Given the description of an element on the screen output the (x, y) to click on. 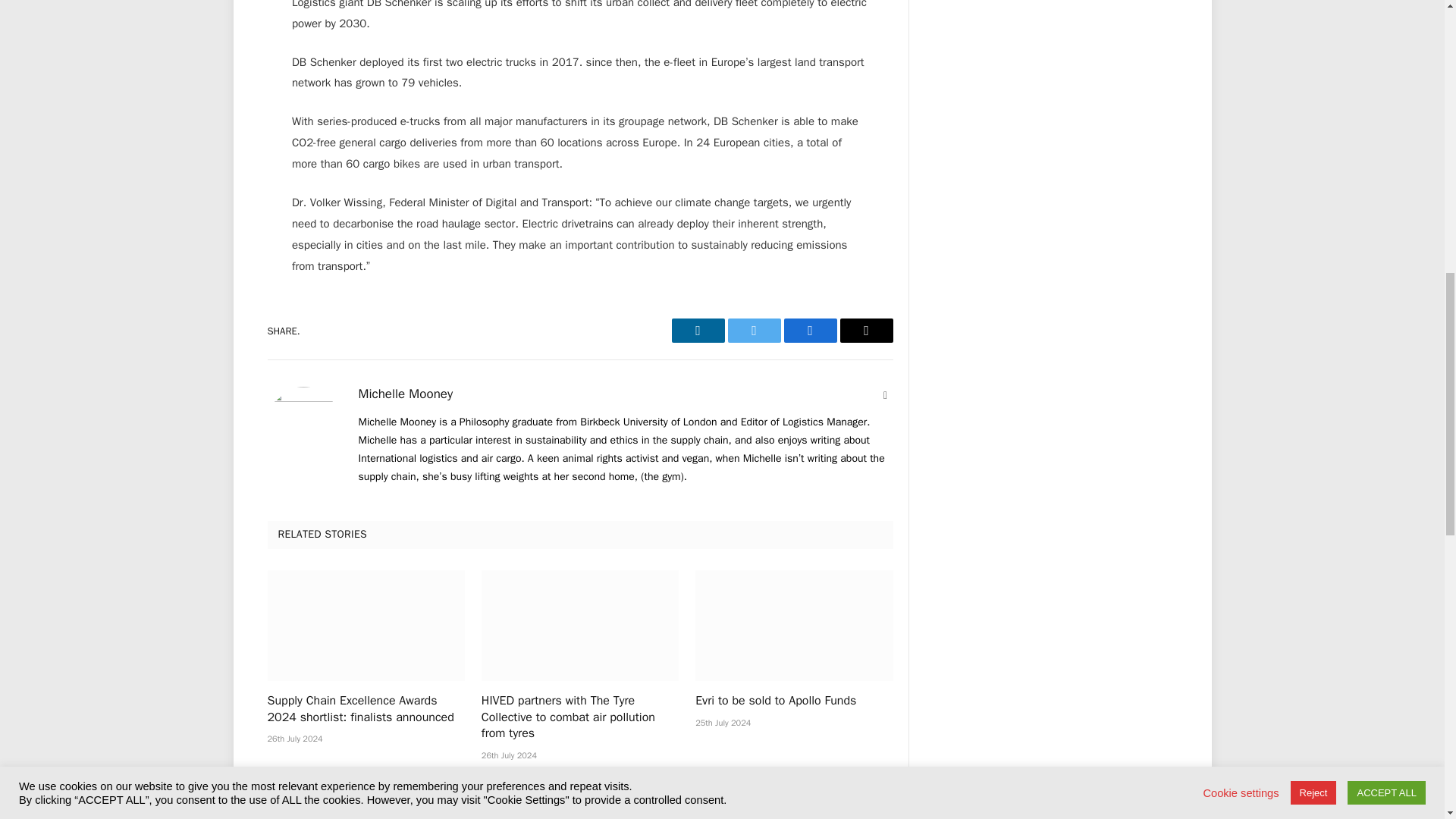
Share on LinkedIn (698, 330)
